Given the description of an element on the screen output the (x, y) to click on. 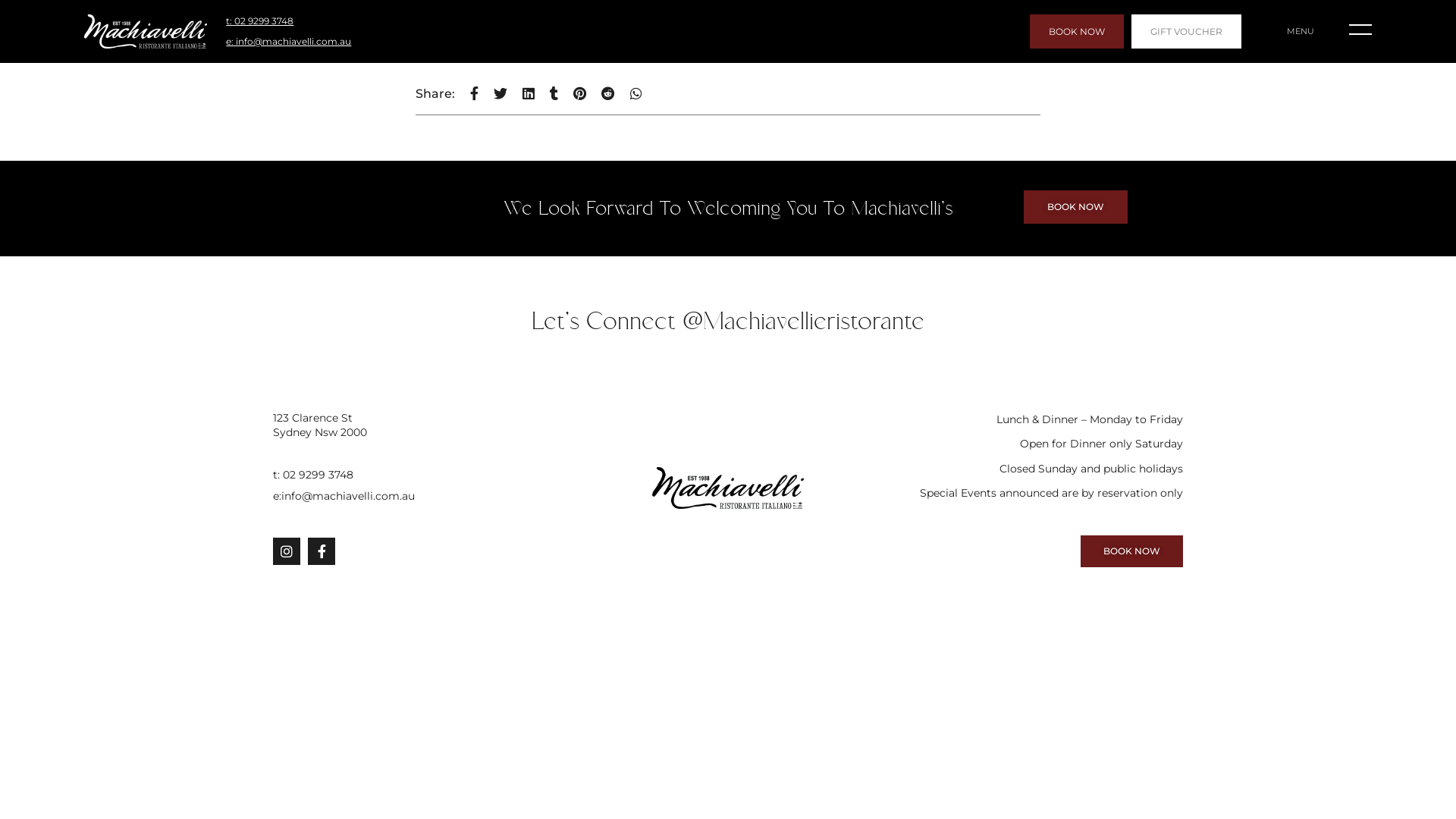
t: 02 9299 3748 Element type: text (419, 474)
MENU Element type: text (1300, 30)
BOOK NOW Element type: text (1075, 206)
e: info@machiavelli.com.au Element type: text (288, 41)
BOOK NOW Element type: text (1131, 551)
GIFT VOUCHER Element type: text (1186, 31)
BOOK NOW Element type: text (1076, 31)
123 Clarence St
Sydney Nsw 2000 Element type: text (419, 424)
e:info@machiavelli.com.au Element type: text (419, 495)
t: 02 9299 3748 Element type: text (259, 21)
